Given the description of an element on the screen output the (x, y) to click on. 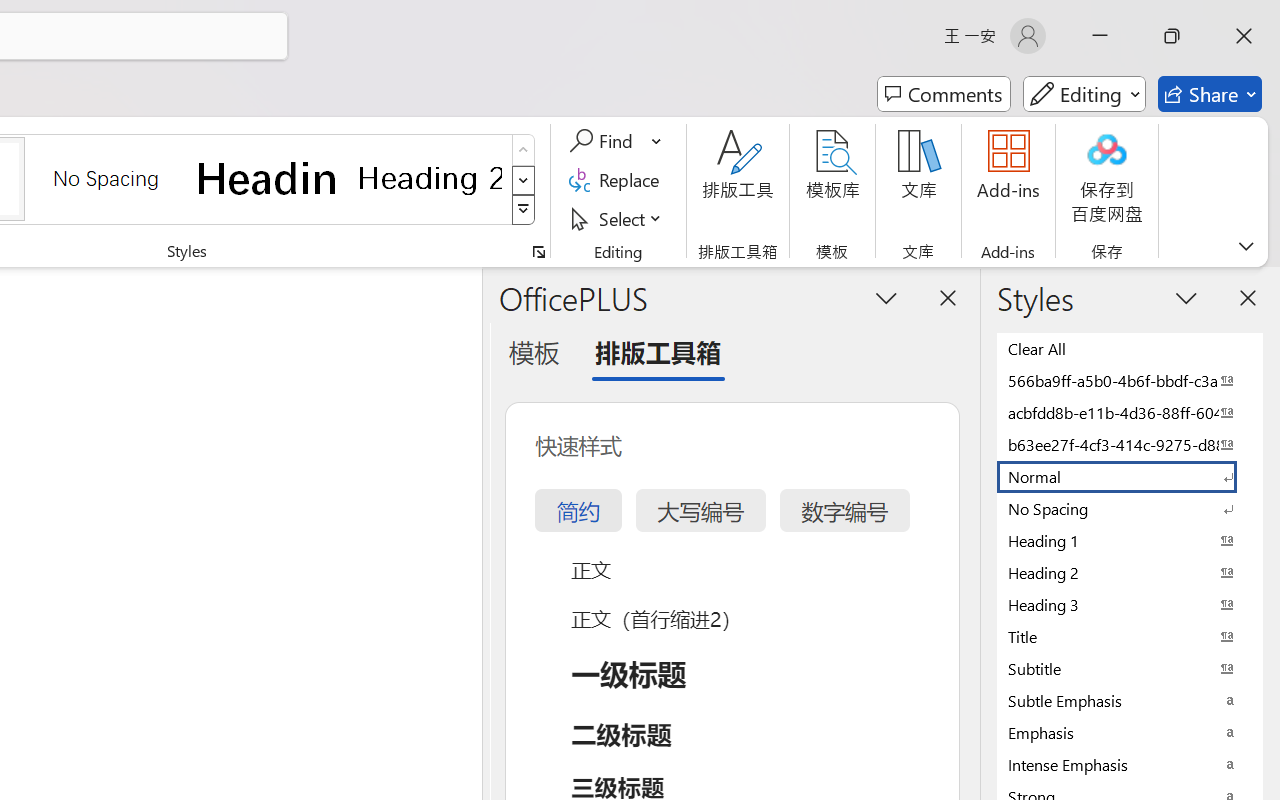
Clear All (1130, 348)
Share (1210, 94)
